Given the description of an element on the screen output the (x, y) to click on. 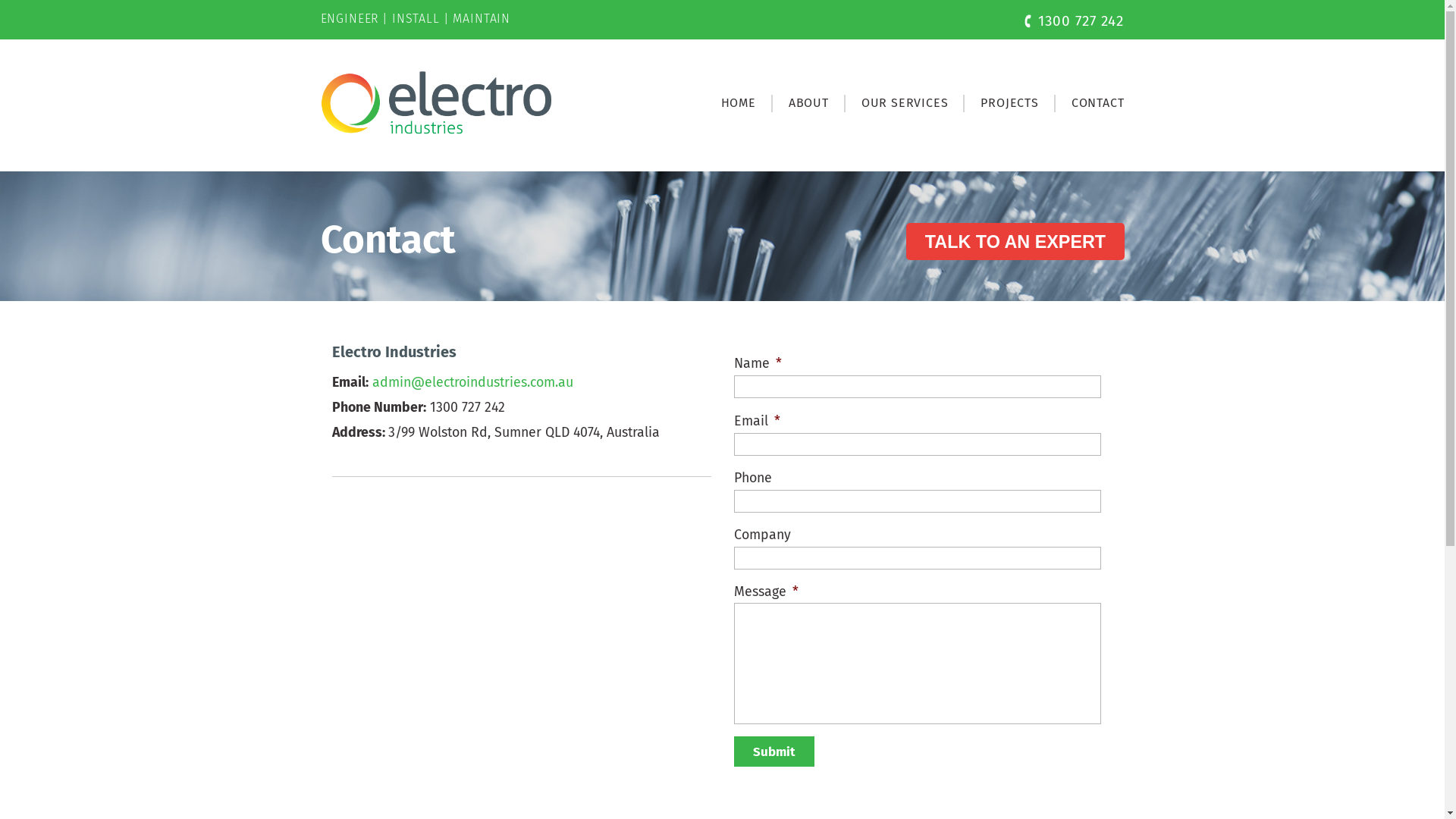
OUR SERVICES Element type: text (904, 102)
Submit Element type: text (774, 751)
HOME Element type: text (738, 102)
CONTACT Element type: text (1089, 102)
TALK TO AN EXPERT Element type: text (1014, 241)
PROJECTS Element type: text (1008, 102)
admin@electroindustries.com.au Element type: text (471, 381)
ABOUT Element type: text (808, 102)
